Given the description of an element on the screen output the (x, y) to click on. 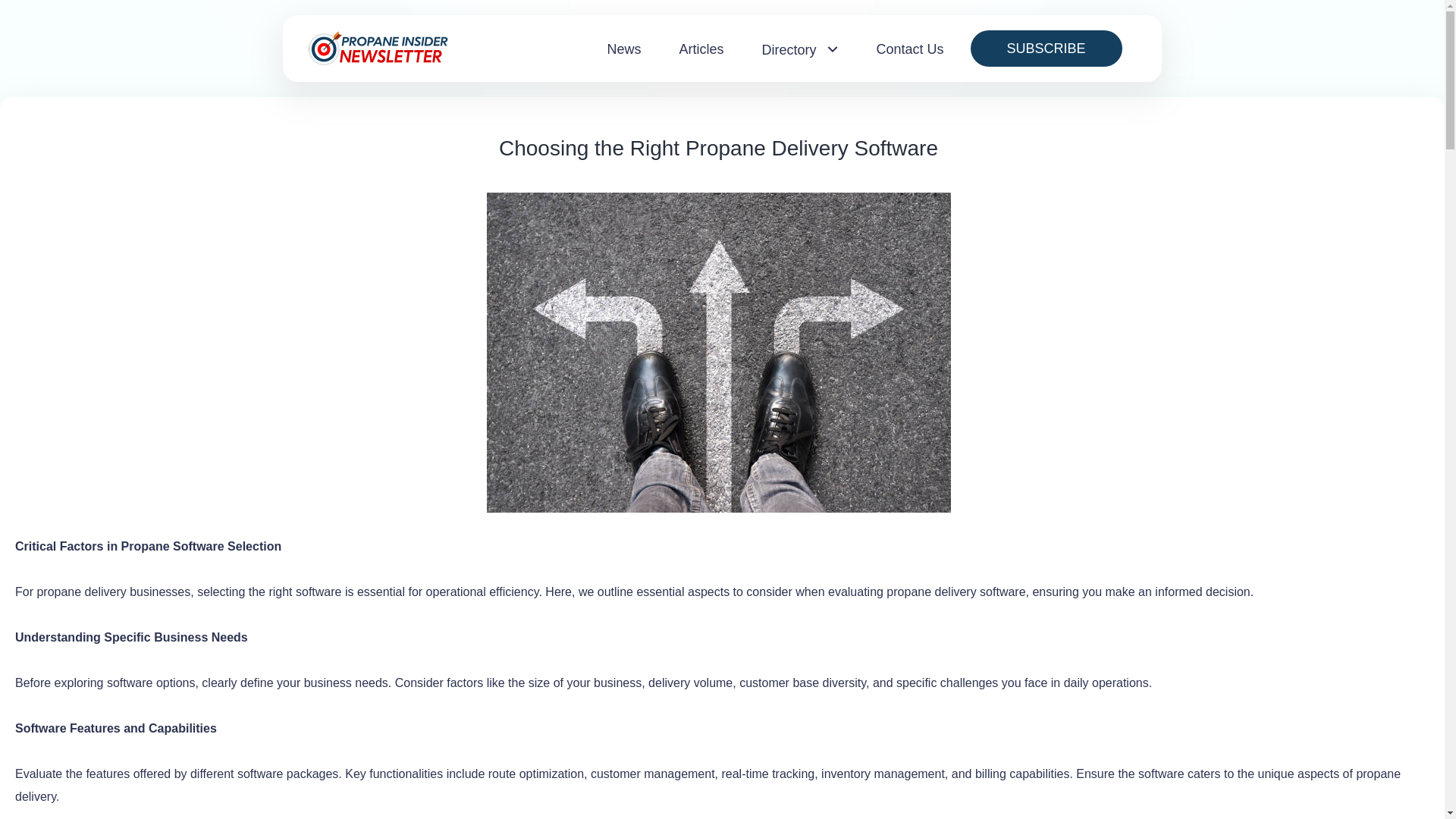
Articles (700, 49)
News (623, 49)
Contact Us (909, 49)
Directory (798, 50)
SUBSCRIBE (1046, 48)
